Given the description of an element on the screen output the (x, y) to click on. 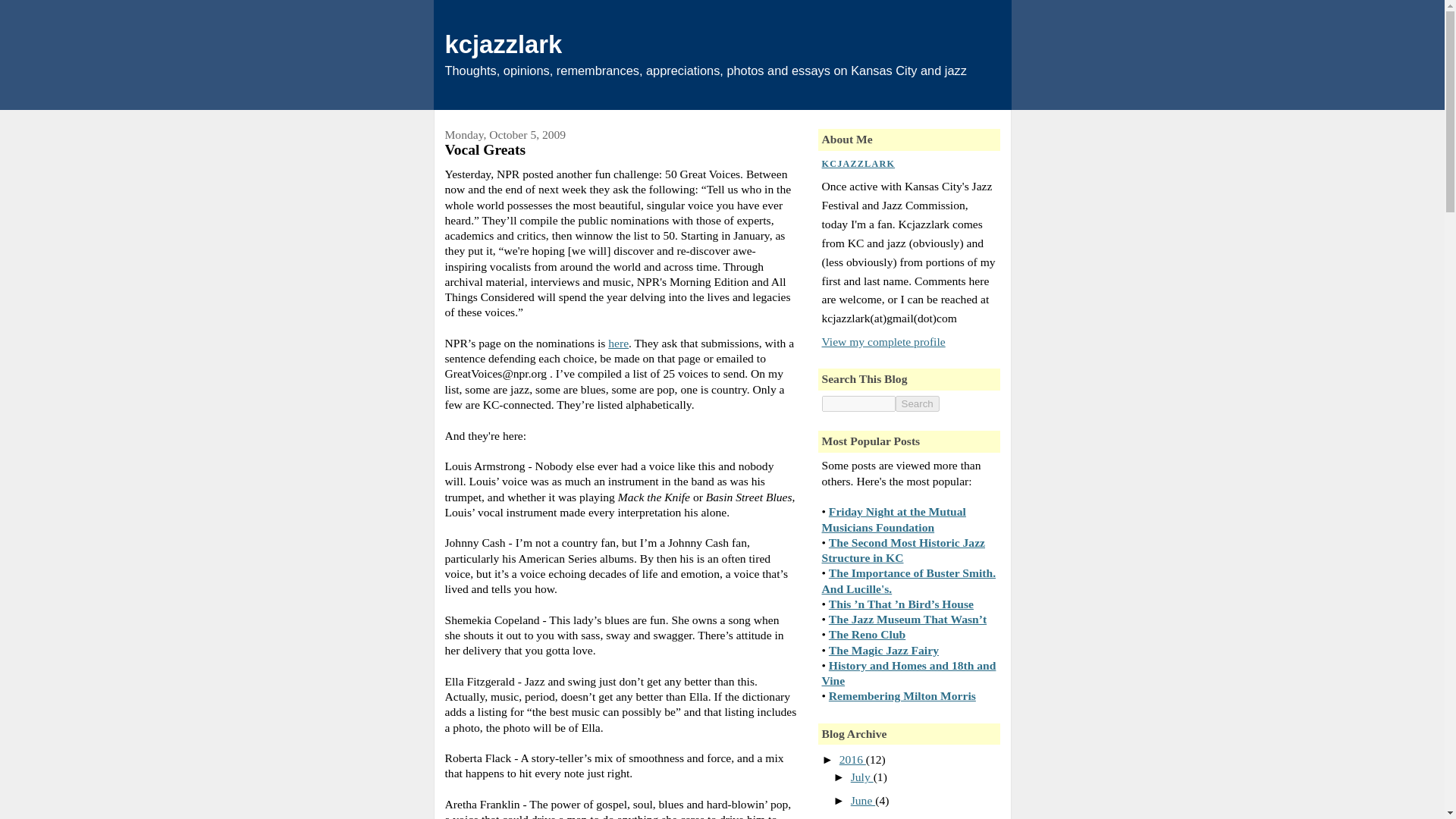
July (861, 776)
Friday Night at the Mutual Musicians Foundation (894, 519)
here (618, 342)
Remembering Milton Morris (901, 695)
kcjazzlark (503, 44)
search (917, 403)
search (858, 403)
Search (917, 403)
Search (917, 403)
The Importance of Buster Smith. And Lucille's. (908, 580)
The Magic Jazz Fairy (883, 649)
Search (917, 403)
The Second Most Historic Jazz Structure in KC (903, 550)
June (862, 799)
KCJAZZLARK (858, 163)
